Given the description of an element on the screen output the (x, y) to click on. 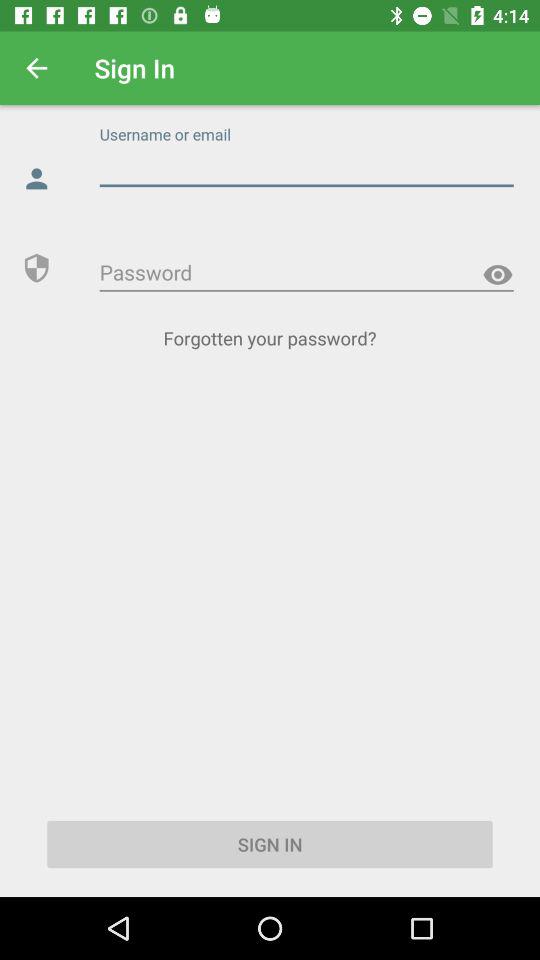
look at password (498, 274)
